Given the description of an element on the screen output the (x, y) to click on. 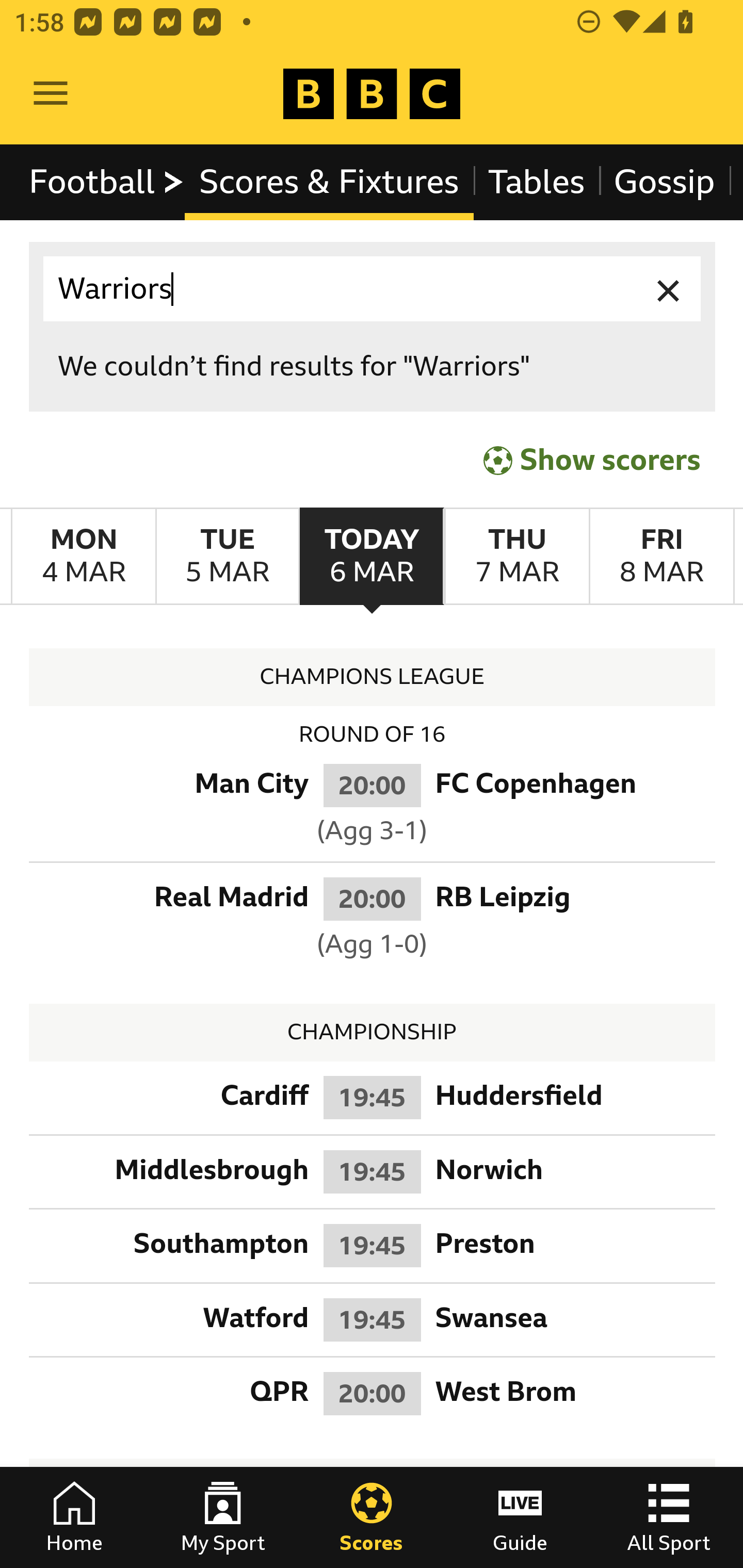
Open Menu (50, 93)
Football  (106, 181)
Scores & Fixtures (329, 181)
Tables (536, 181)
Gossip (664, 181)
Warriors (372, 289)
Clear input (669, 289)
Show scorers (591, 459)
MondayMarch 4th Monday March 4th (83, 557)
TuesdayMarch 5th Tuesday March 5th (227, 557)
ThursdayMarch 7th Thursday March 7th (516, 557)
FridayMarch 8th Friday March 8th (661, 557)
Home (74, 1517)
My Sport (222, 1517)
Guide (519, 1517)
All Sport (668, 1517)
